Given the description of an element on the screen output the (x, y) to click on. 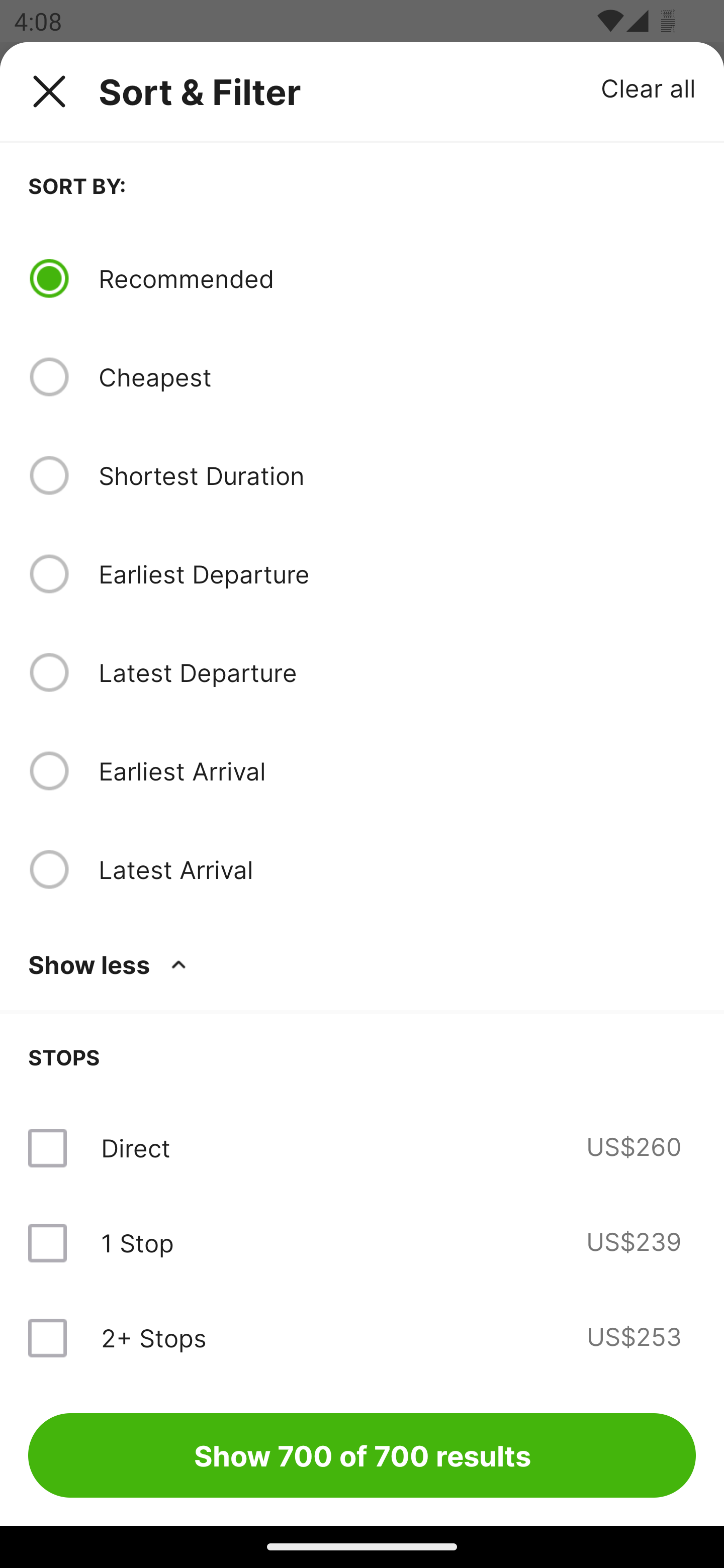
Clear all (648, 87)
Recommended  (396, 278)
Cheapest (396, 377)
Shortest Duration (396, 474)
Earliest Departure (396, 573)
Latest Departure (396, 672)
Earliest Arrival (396, 770)
Latest Arrival (396, 869)
Show less (110, 964)
Direct US$260 (362, 1147)
Direct (135, 1147)
1 Stop US$239 (362, 1242)
1 Stop (136, 1242)
2+ Stops US$253 (362, 1337)
2+ Stops (153, 1337)
Show 700 of 700 results (361, 1454)
